Given the description of an element on the screen output the (x, y) to click on. 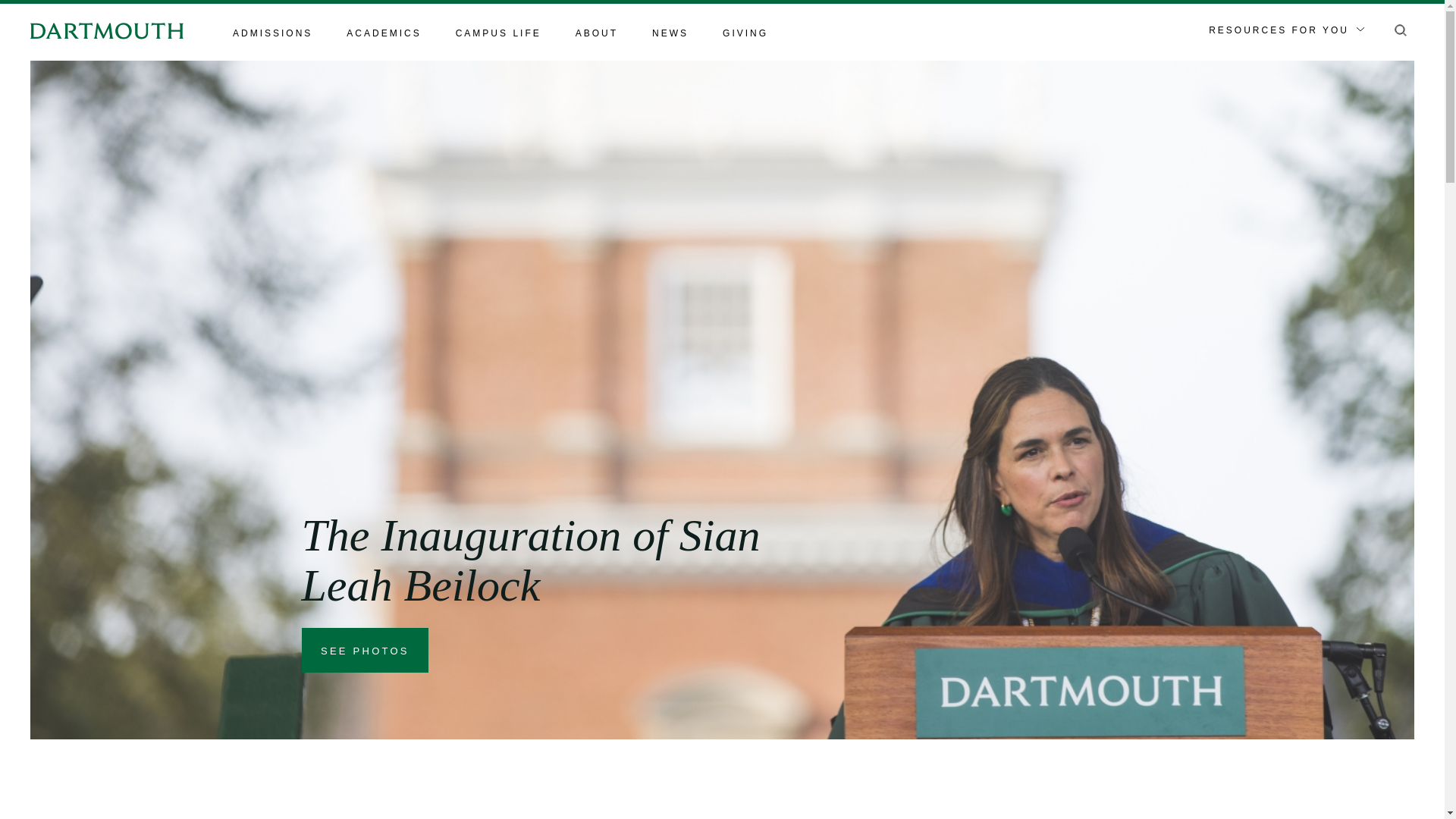
ADMISSIONS (272, 33)
Home (106, 29)
CAMPUS LIFE (498, 33)
ABOUT (596, 33)
Home (106, 29)
Admissions (272, 33)
Academics (383, 33)
ACADEMICS (383, 33)
